Given the description of an element on the screen output the (x, y) to click on. 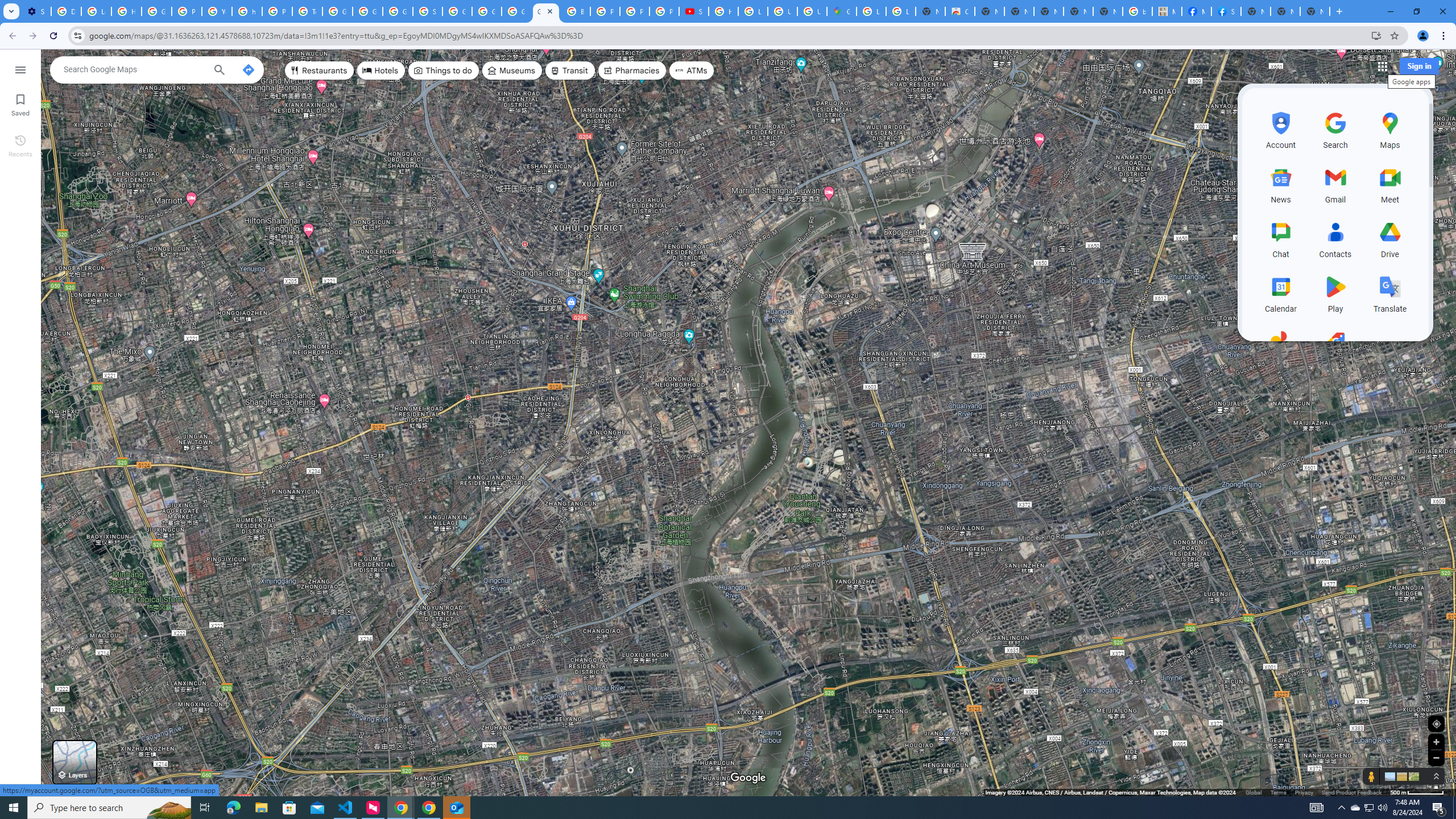
New Tab (1255, 11)
Sign in - Google Accounts (426, 11)
How Chrome protects your passwords - Google Chrome Help (723, 11)
Google Maps (841, 11)
Sign Up for Facebook (1226, 11)
